Given the description of an element on the screen output the (x, y) to click on. 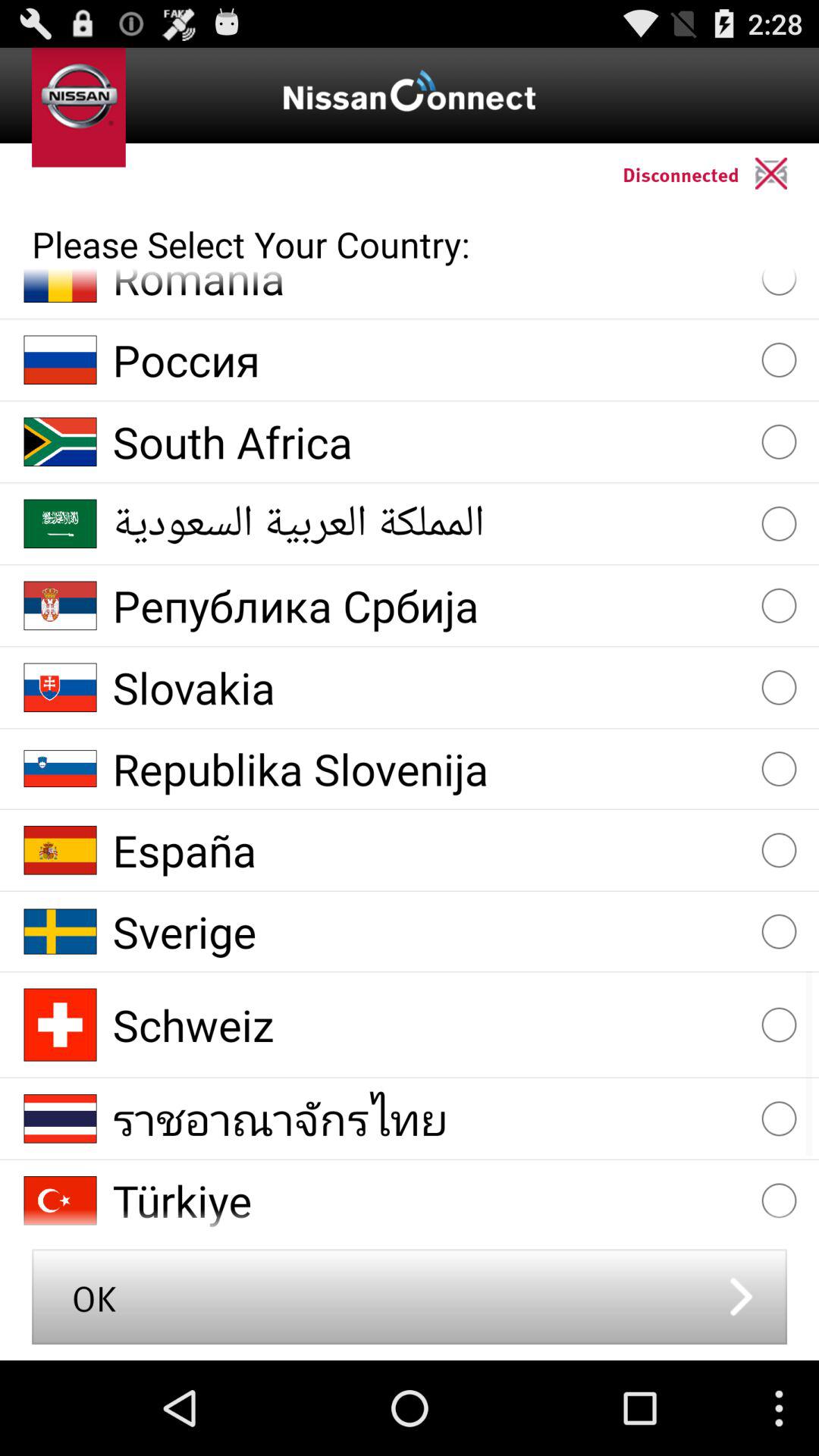
flip until schweiz app (429, 1024)
